Given the description of an element on the screen output the (x, y) to click on. 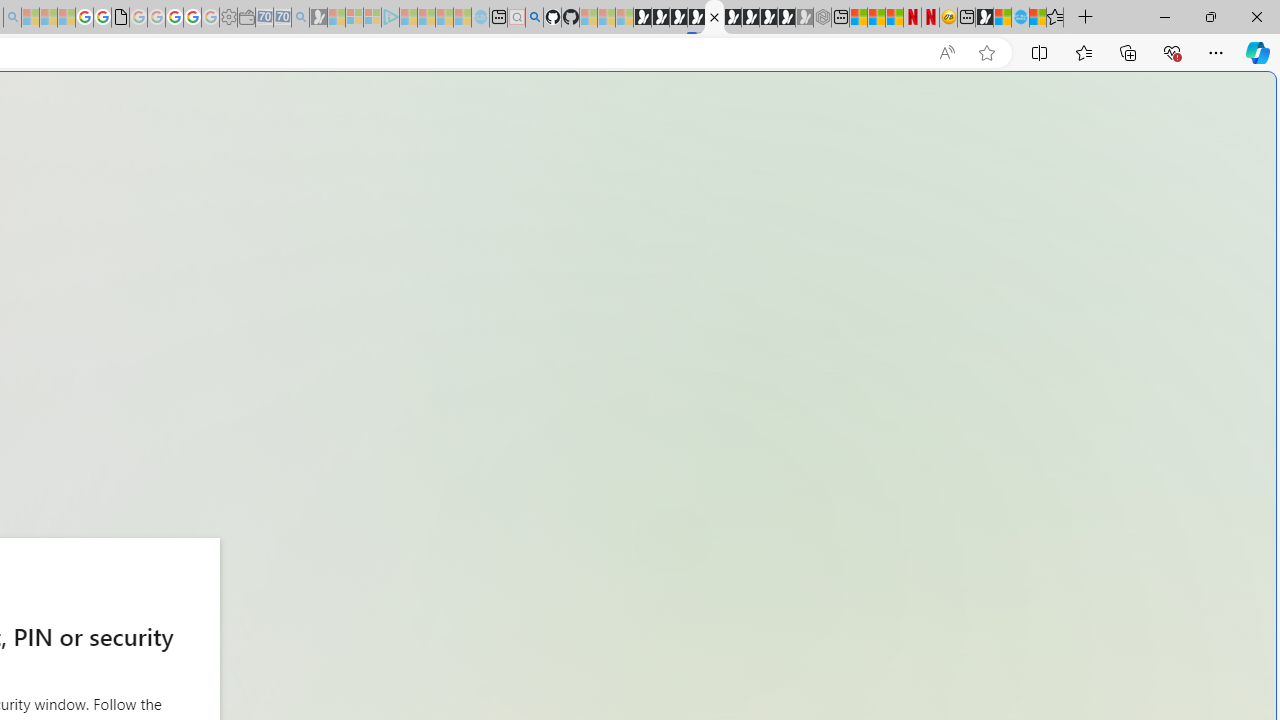
Close split screen (844, 102)
Wallet - Sleeping (246, 17)
Frequently visited (418, 265)
Microsoft Start Gaming - Sleeping (317, 17)
google_privacy_policy_zh-CN.pdf (120, 17)
